Given the description of an element on the screen output the (x, y) to click on. 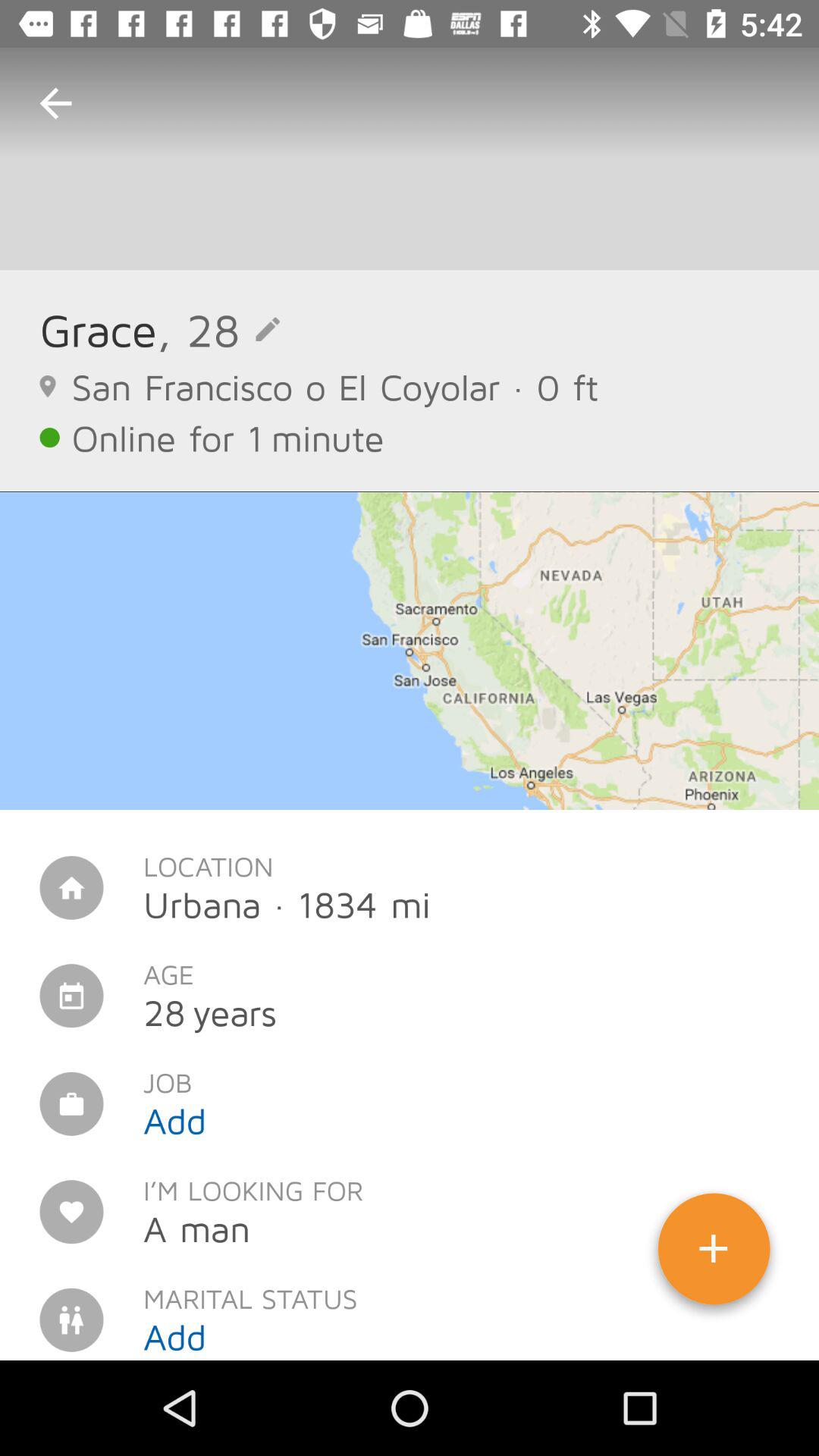
press the grace icon (97, 329)
